Given the description of an element on the screen output the (x, y) to click on. 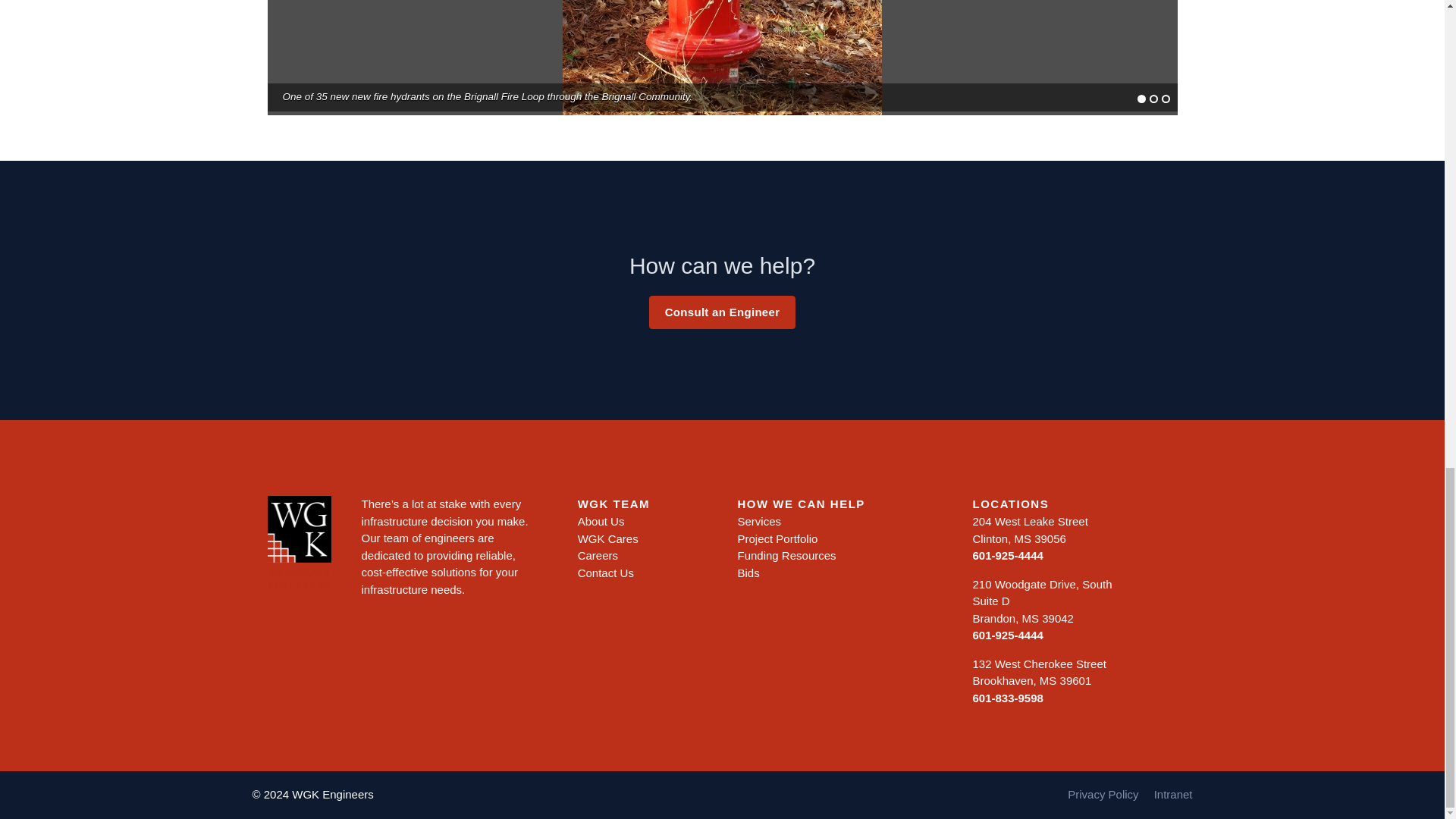
Consult an Engineer (722, 312)
3 (1165, 99)
Intranet (1173, 793)
Privacy Policy (1102, 793)
2 (1153, 99)
1 (1141, 99)
Contact Us (605, 572)
Careers (597, 554)
Funding Resources (785, 554)
WGK Cares (608, 538)
